Given the description of an element on the screen output the (x, y) to click on. 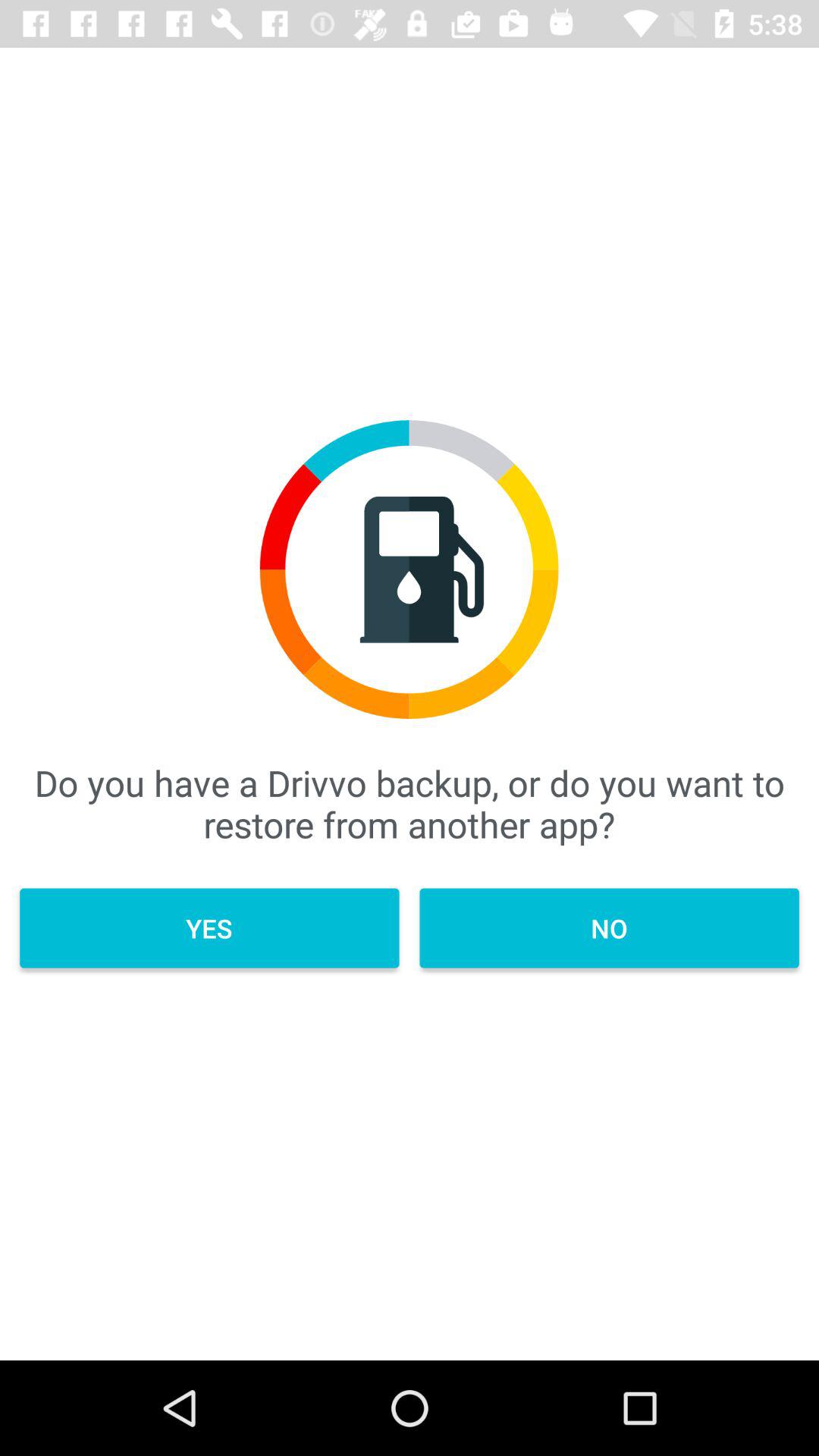
select no (609, 928)
